Given the description of an element on the screen output the (x, y) to click on. 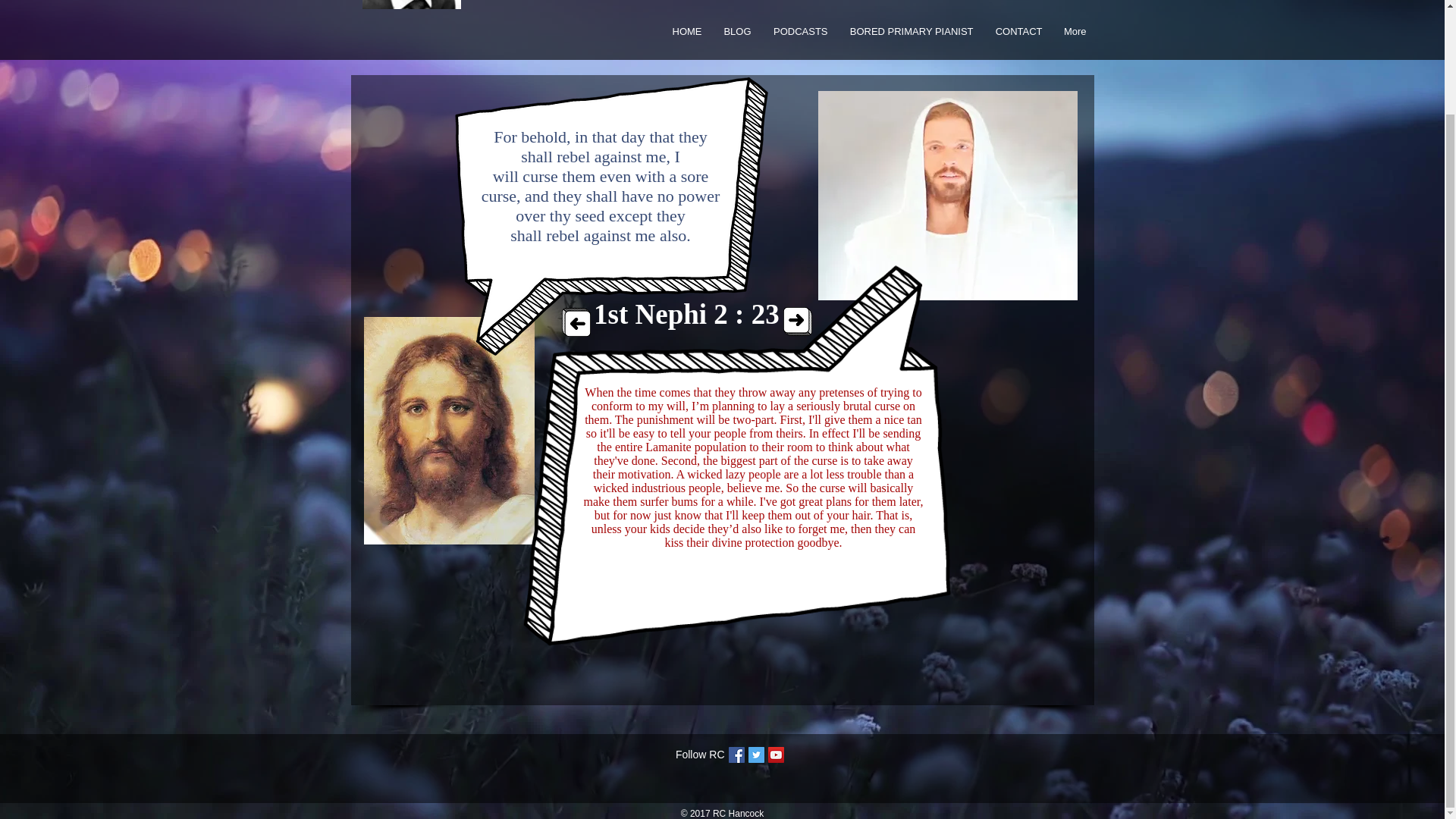
CONTACT (1015, 31)
BLOG (734, 31)
PODCASTS (797, 31)
HOME (684, 31)
BORED PRIMARY PIANIST (908, 31)
